Given the description of an element on the screen output the (x, y) to click on. 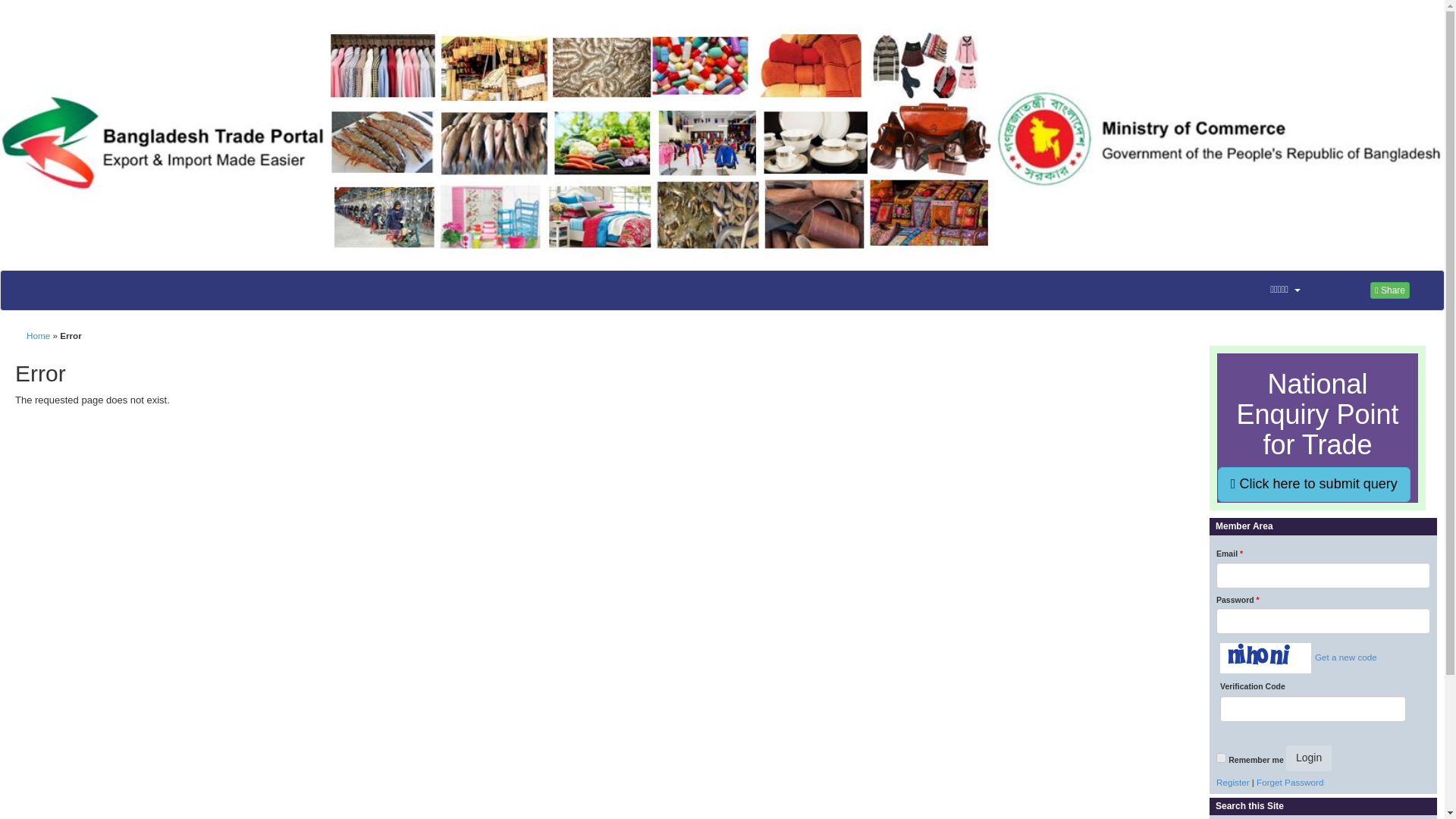
Login (1308, 758)
1 (1220, 757)
Get a new code (1344, 656)
Home (37, 335)
Forget Password (1289, 782)
Click here to submit query (1313, 484)
Login (1308, 758)
Share (1389, 289)
Register (1232, 782)
